Given the description of an element on the screen output the (x, y) to click on. 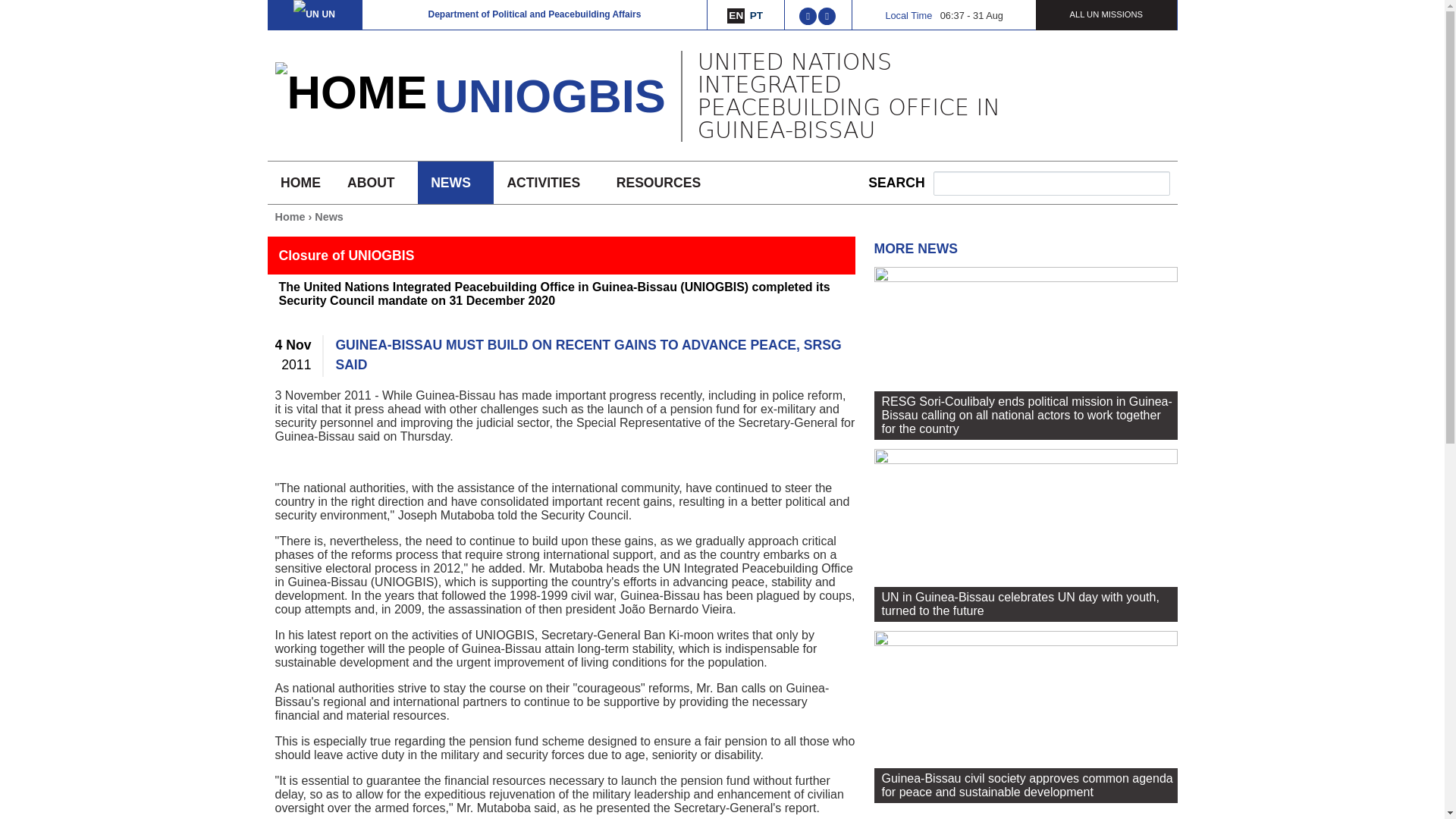
Enter the terms you wish to search for. (1051, 183)
PT (756, 15)
Department of Political and Peacebuilding Affairs (534, 14)
UN (314, 14)
ALL UN MISSIONS (1106, 13)
HOME (299, 182)
Home (349, 92)
Home (549, 95)
UNIOGBIS (549, 95)
EN (735, 15)
